Given the description of an element on the screen output the (x, y) to click on. 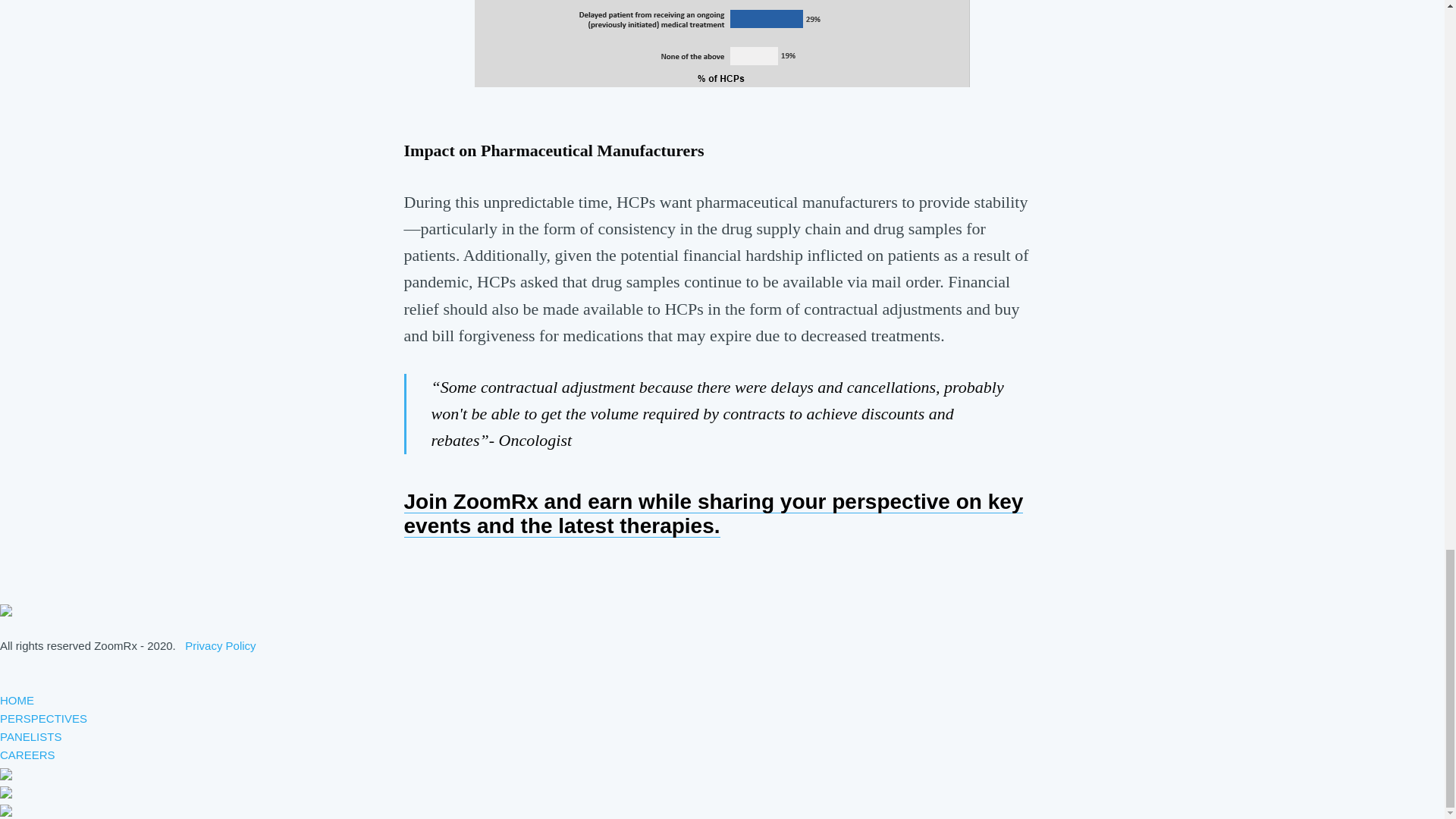
Privacy Policy (220, 645)
